Given the description of an element on the screen output the (x, y) to click on. 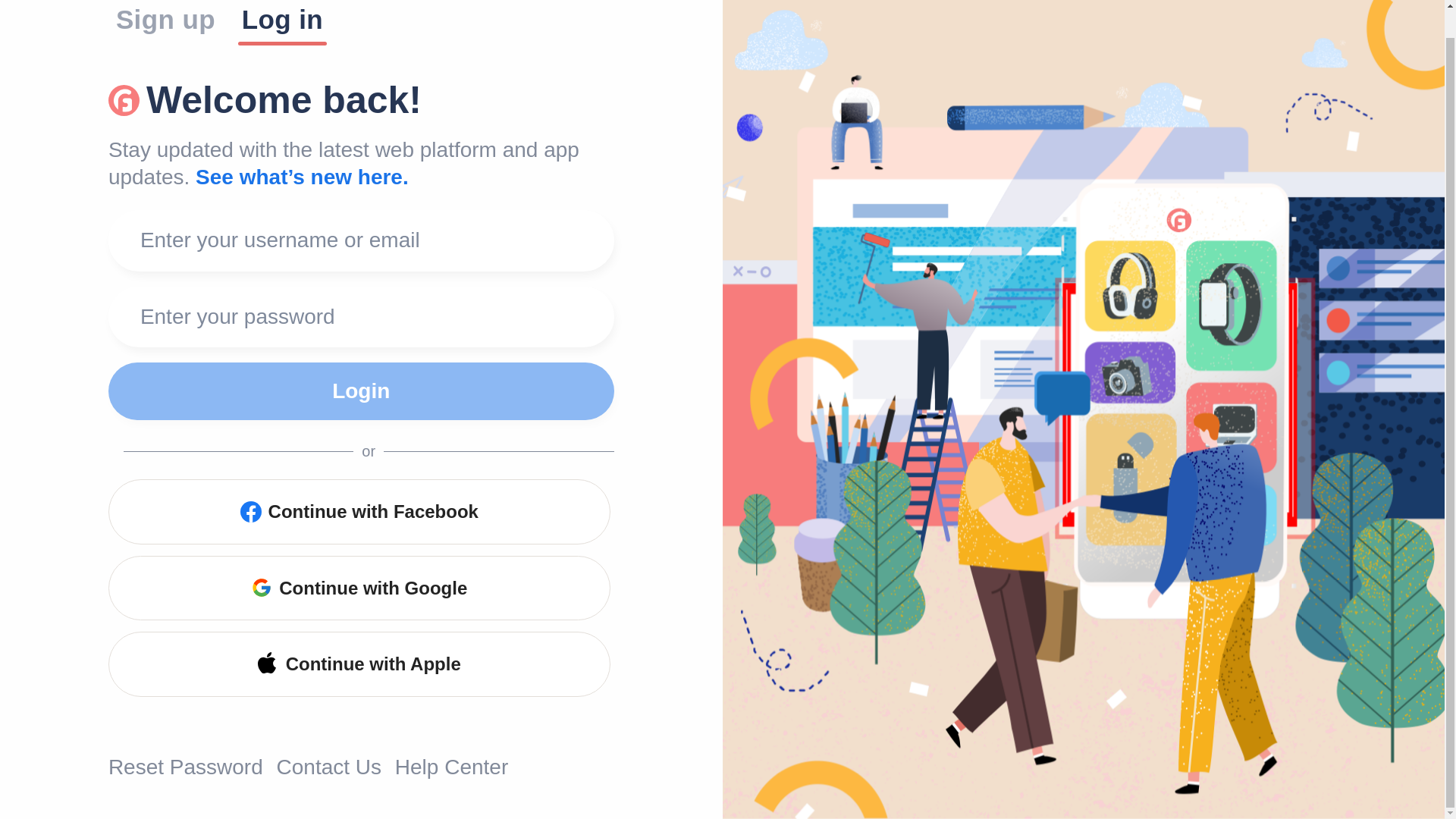
Contact Us (328, 766)
Help Center (451, 766)
Login (360, 391)
Send New Password (53, 284)
Continue with Google (358, 588)
Continue with Facebook (358, 511)
Continue with Apple (358, 663)
Set Password (53, 450)
Login (360, 391)
